Given the description of an element on the screen output the (x, y) to click on. 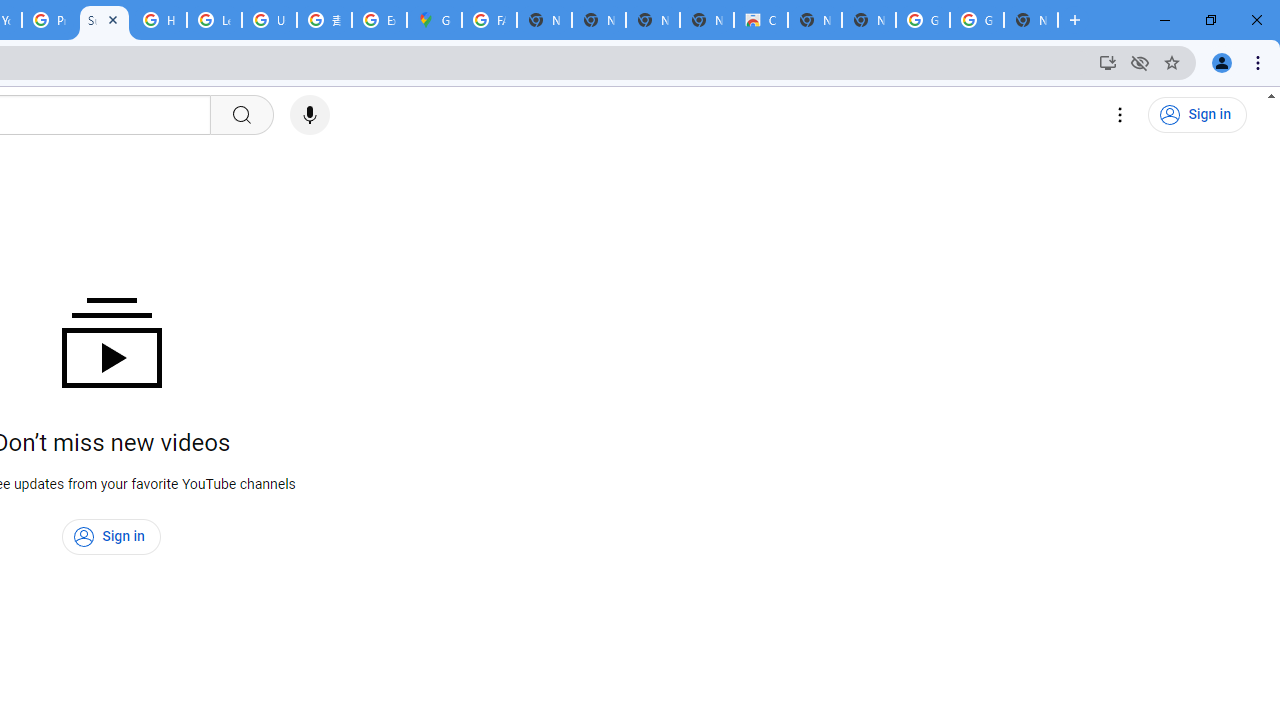
Subscriptions - YouTube (103, 20)
Google Maps (434, 20)
Search with your voice (309, 115)
How Chrome protects your passwords - Google Chrome Help (158, 20)
Chrome Web Store (760, 20)
Explore new street-level details - Google Maps Help (379, 20)
